Given the description of an element on the screen output the (x, y) to click on. 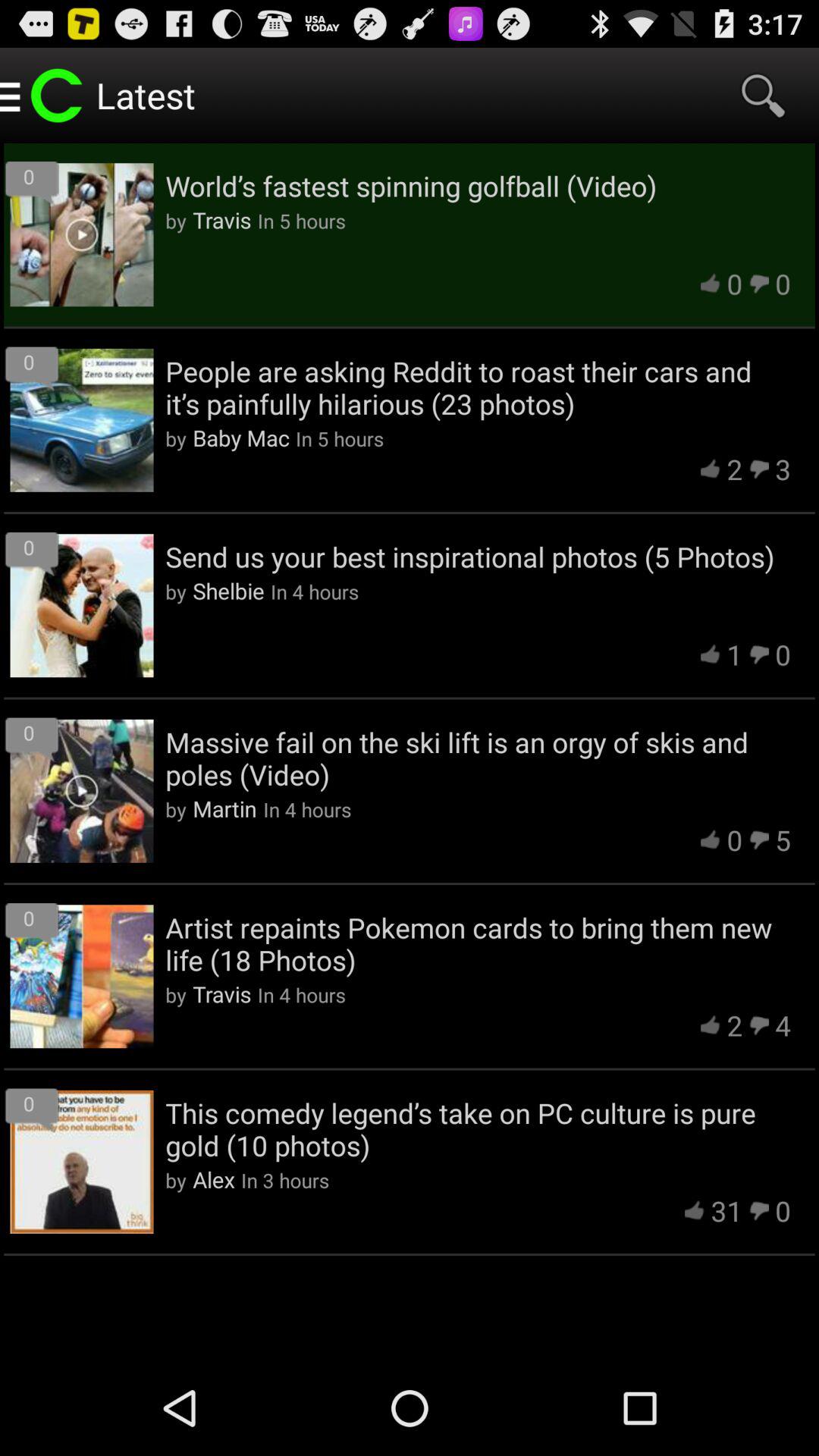
tap item next to latest icon (763, 95)
